Given the description of an element on the screen output the (x, y) to click on. 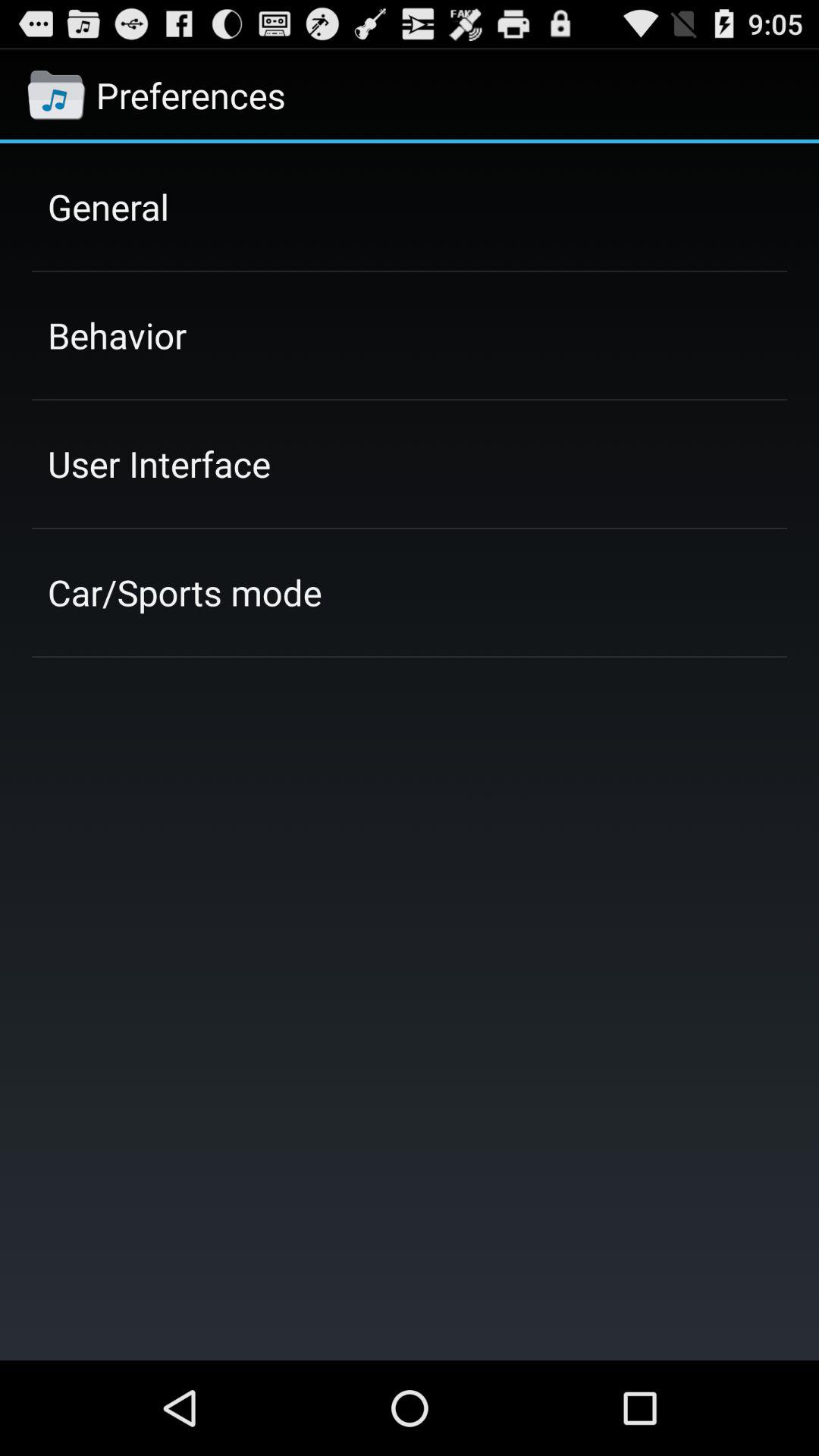
select the item above the car/sports mode icon (158, 463)
